Given the description of an element on the screen output the (x, y) to click on. 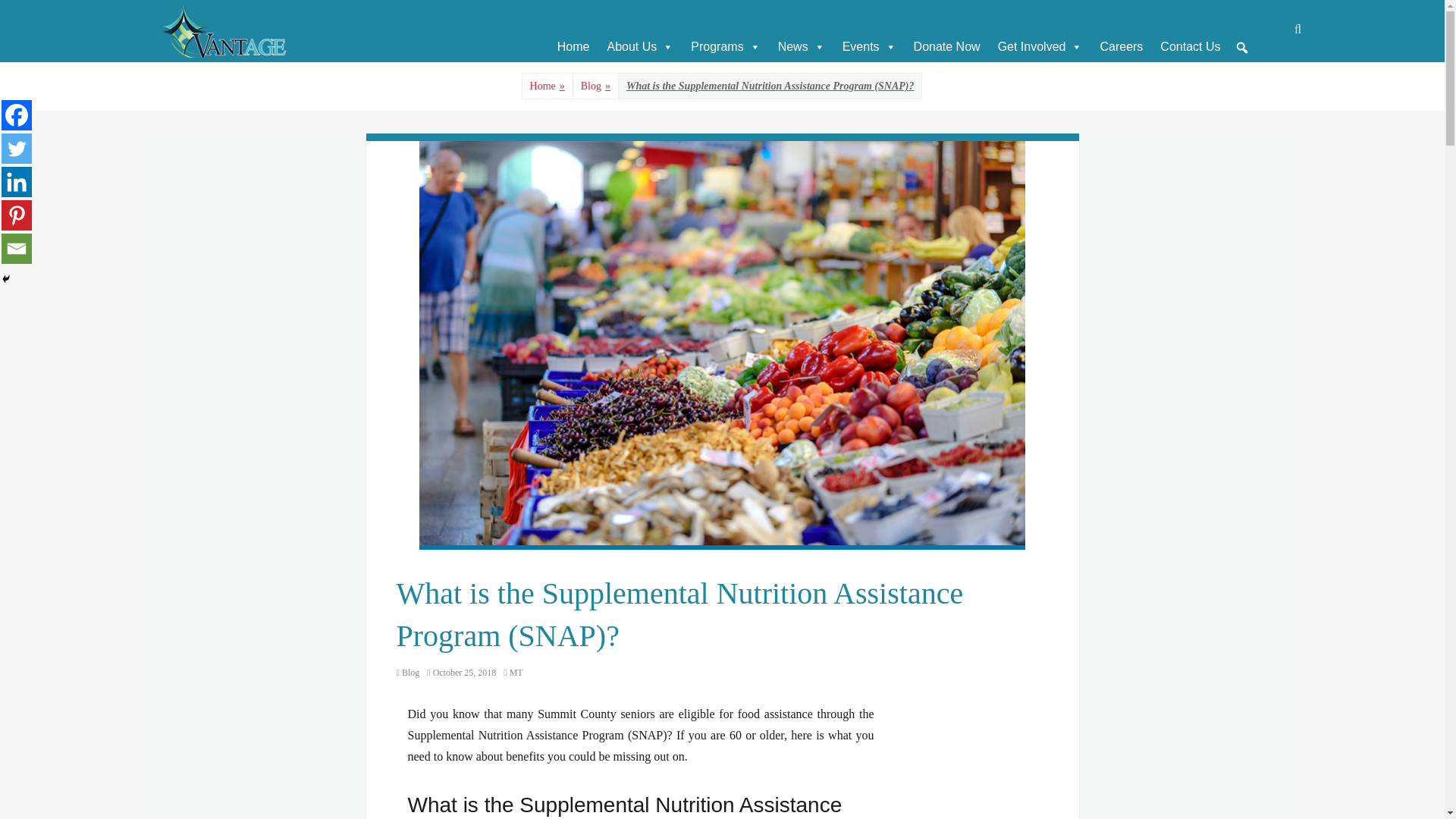
Email (16, 248)
Linkedin (16, 182)
Hide (5, 278)
Pinterest (16, 214)
Twitter (16, 148)
Facebook (16, 114)
